Given the description of an element on the screen output the (x, y) to click on. 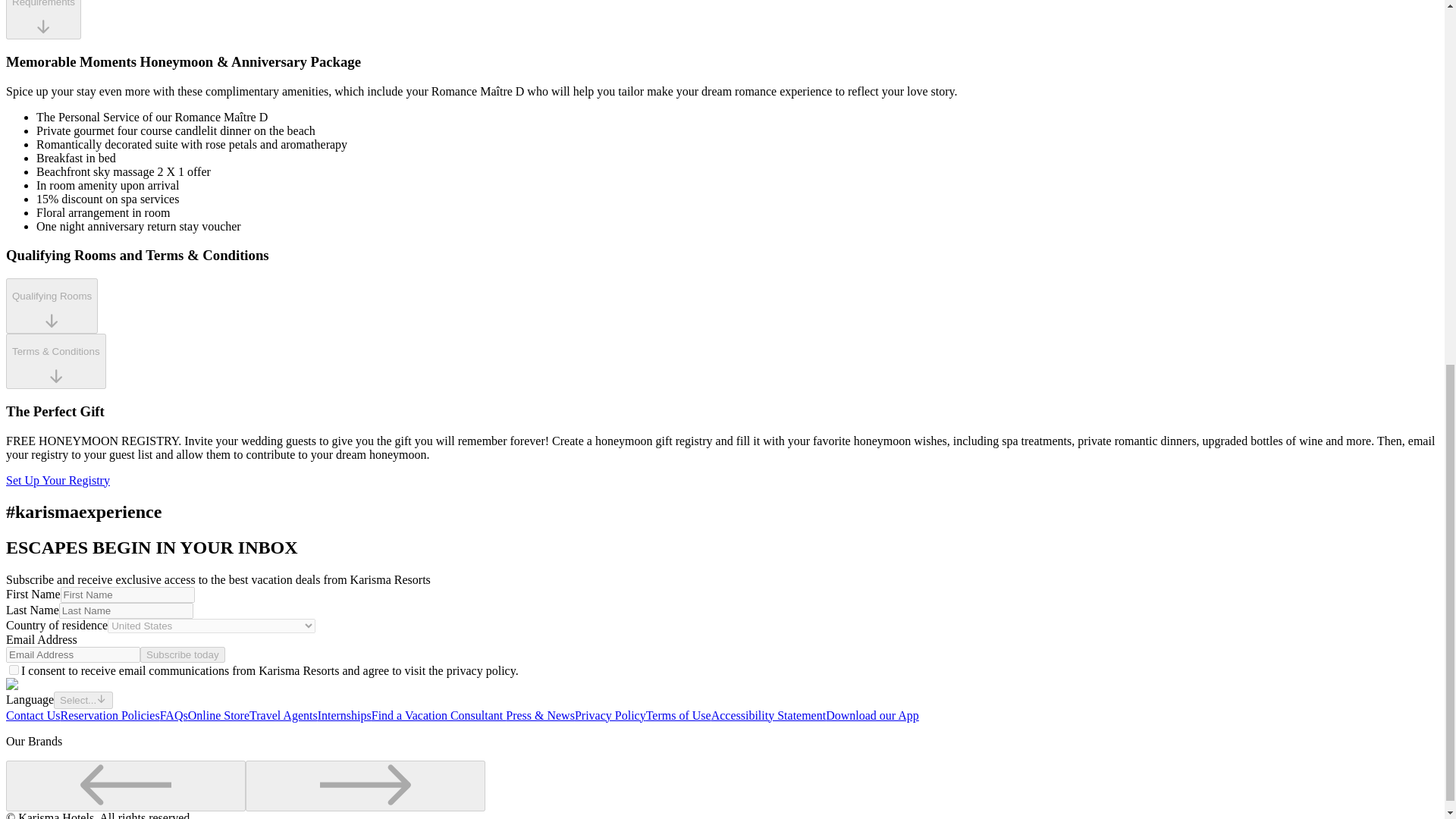
Arrow Left Icon (125, 784)
Online Store (217, 715)
Privacy Policy (610, 715)
Download our App (871, 715)
Subscribe today (182, 654)
Select... (82, 699)
Accessibility Statement (769, 715)
on (13, 669)
Find a Vacation Consultant (438, 715)
Terms of Use (678, 715)
Reservation Policies (110, 715)
Travel Agents (282, 715)
Set Up Your Registry (57, 480)
FAQs (173, 715)
Requirements (43, 19)
